Given the description of an element on the screen output the (x, y) to click on. 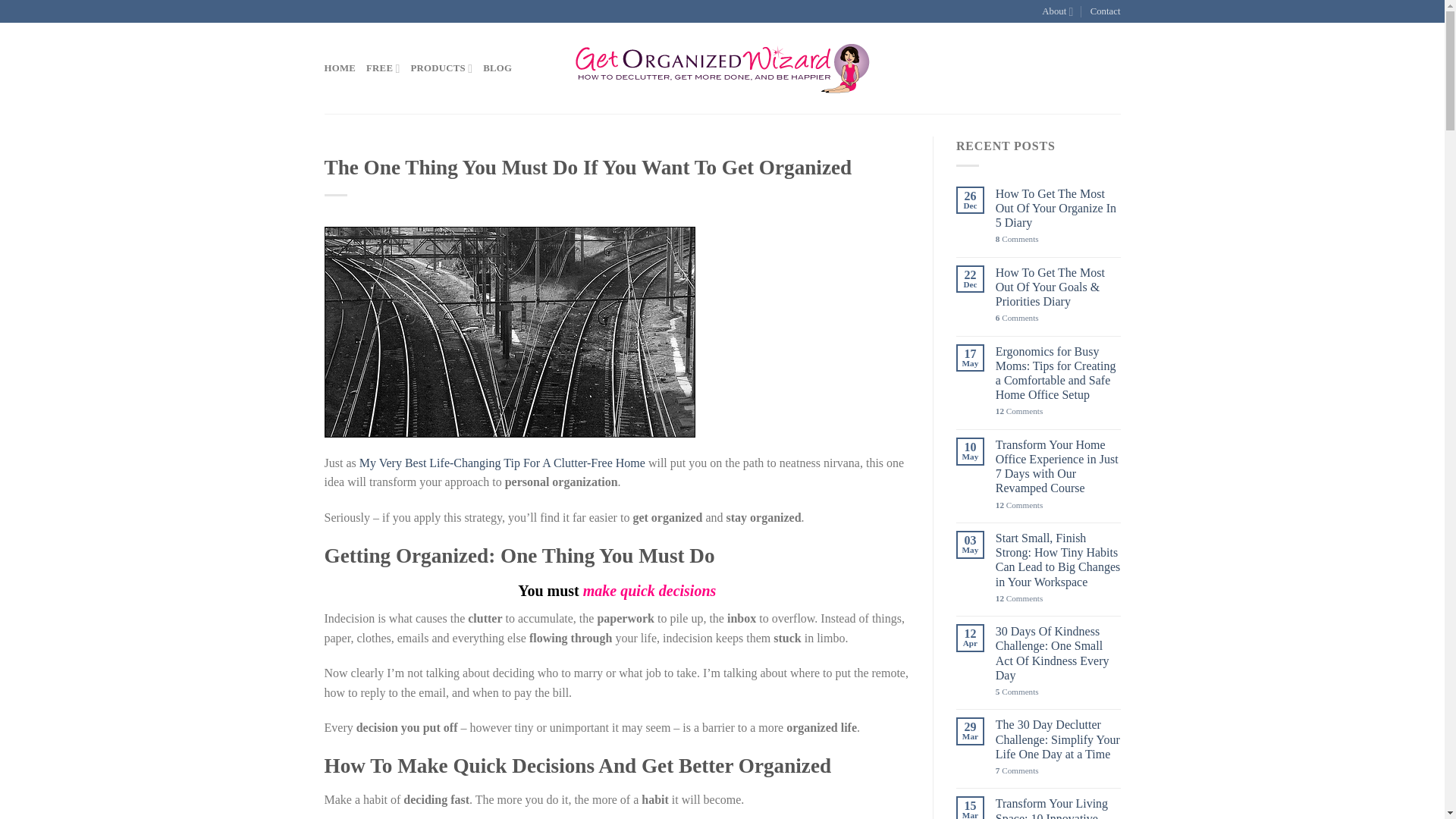
How To Get The Most Out Of Your Organize In 5 Diary (1058, 208)
PRODUCTS (441, 68)
Make a decision and get organized! (509, 331)
About (1057, 11)
FREE (382, 68)
Contact (1105, 11)
HOME (340, 68)
